Given the description of an element on the screen output the (x, y) to click on. 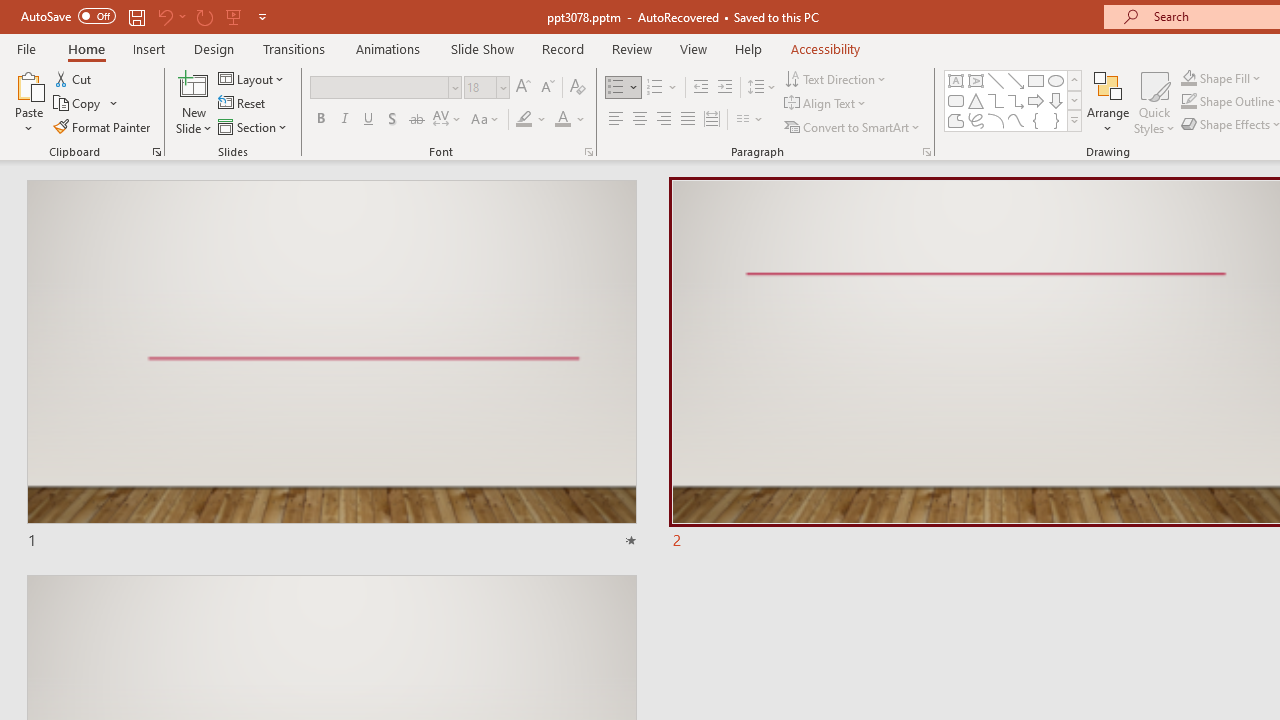
Clear Formatting (577, 87)
Font (385, 87)
Decrease Indent (700, 87)
Paste (28, 102)
Shape Fill Dark Green, Accent 2 (1188, 78)
File Tab (26, 48)
Review (631, 48)
Text Highlight Color Yellow (524, 119)
AutomationID: ShapesInsertGallery (1014, 100)
Slide (331, 365)
Connector: Elbow Arrow (1016, 100)
Oval (1055, 80)
Justify (687, 119)
Shape Fill (1221, 78)
